Given the description of an element on the screen output the (x, y) to click on. 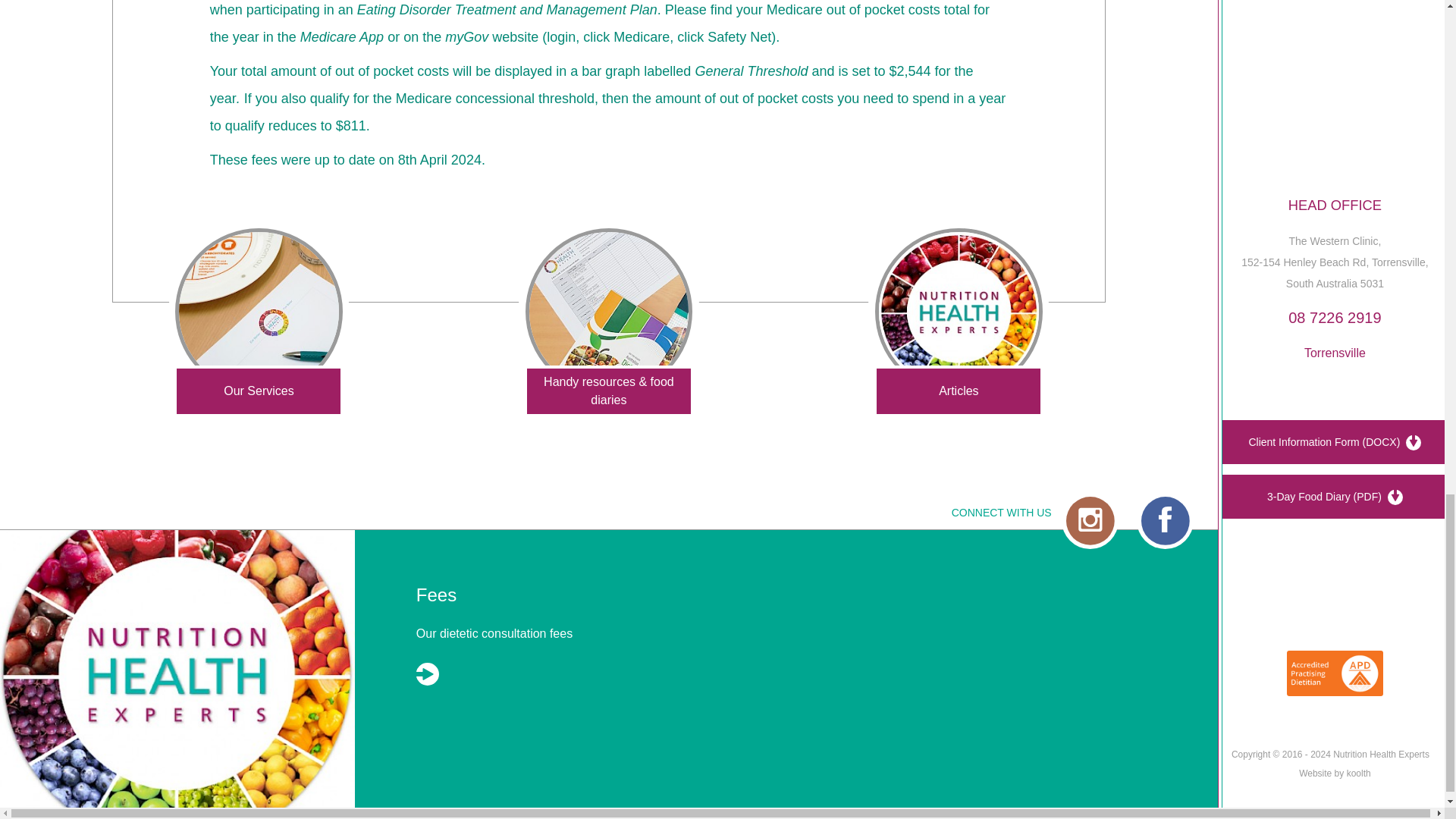
View Nutrition Health Experts on Instagram (1089, 523)
Visit koolth website (1358, 773)
koolth (1358, 773)
Our Services (259, 313)
Articles (958, 313)
HEAD OFFICE (1334, 205)
Torrensville (1334, 352)
Head Office contact details (1334, 205)
Articles (958, 313)
Connect with Nutrition Health Experts on Facebook (1165, 523)
08 7226 2919 (1334, 317)
Resources (609, 313)
Call Nutrition Health Experts (1334, 317)
Services (259, 313)
